Given the description of an element on the screen output the (x, y) to click on. 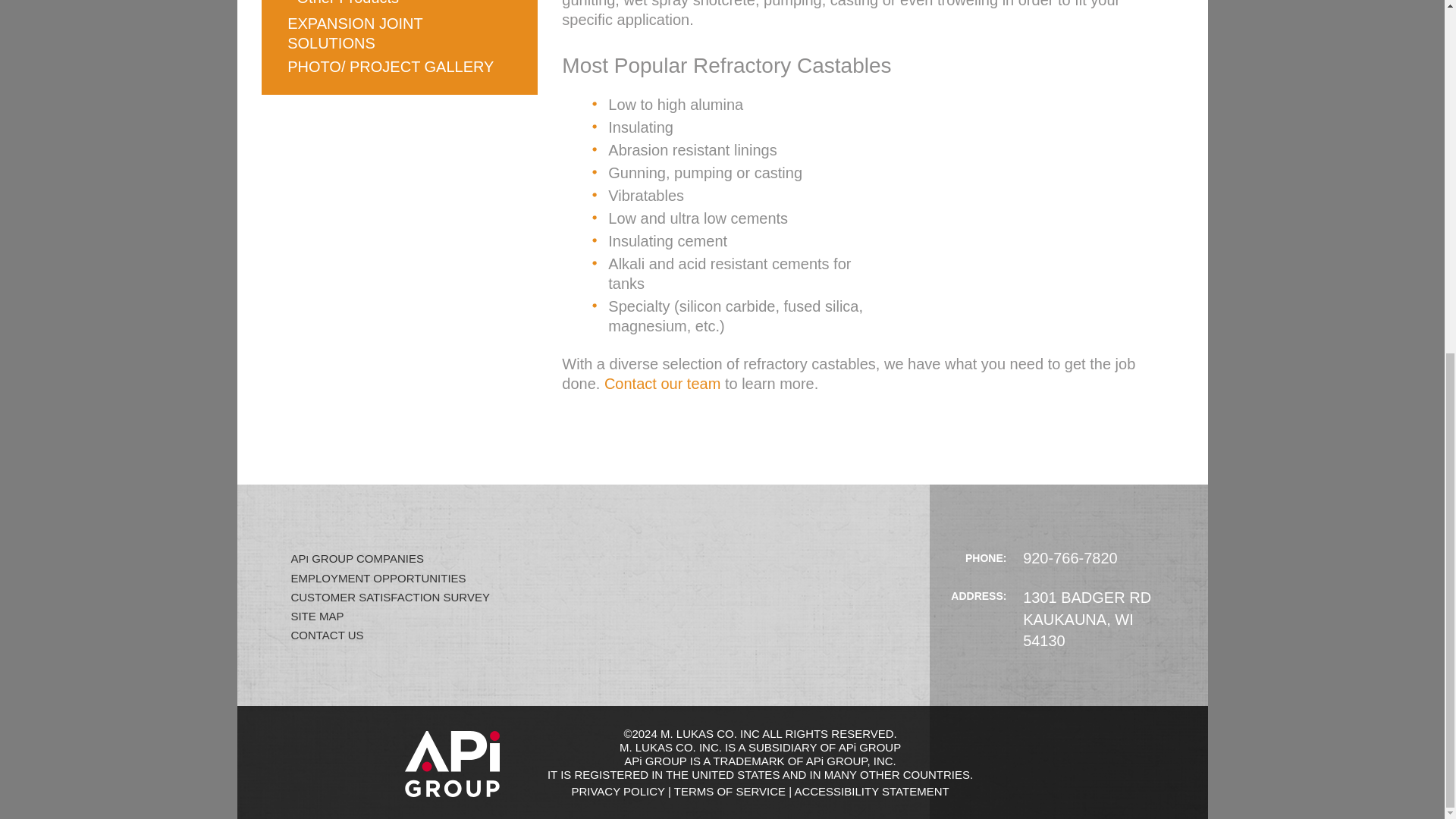
Other Products (344, 4)
Contact our team (662, 383)
EXPANSION JOINT SOLUTIONS (354, 33)
